Given the description of an element on the screen output the (x, y) to click on. 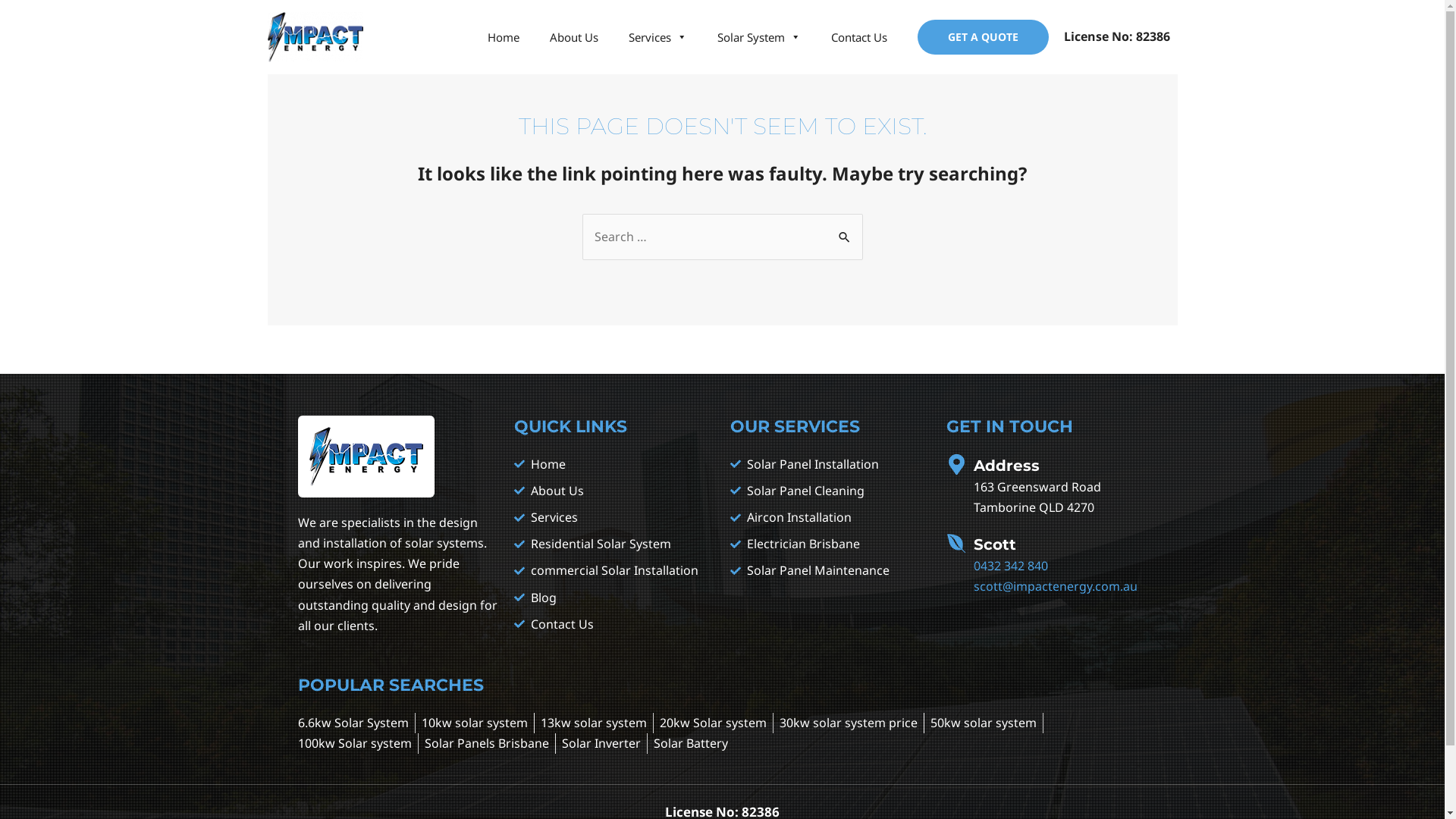
Services Element type: text (614, 517)
50kw solar system Element type: text (982, 722)
30kw solar system price Element type: text (848, 722)
Solar Panels Brisbane Element type: text (486, 743)
Residential Solar System Element type: text (614, 543)
Contact Us Element type: text (614, 624)
Blog Element type: text (614, 597)
Home Element type: text (614, 464)
Electrician Brisbane Element type: text (829, 543)
Services Element type: text (656, 37)
20kw Solar system Element type: text (712, 722)
scott@impactenergy.com.au Element type: text (1055, 585)
Aircon Installation Element type: text (829, 517)
About Us Element type: text (614, 490)
13kw solar system Element type: text (592, 722)
10kw solar system Element type: text (474, 722)
Search Element type: text (845, 228)
100kw Solar system Element type: text (354, 743)
Solar Panel Cleaning Element type: text (829, 490)
Solar Panel Maintenance Element type: text (829, 570)
Solar Panel Installation Element type: text (829, 464)
commercial Solar Installation Element type: text (614, 570)
Solar System Element type: text (758, 37)
0432 342 840 Element type: text (1010, 565)
Solar Inverter Element type: text (600, 743)
Solar Battery Element type: text (690, 743)
6.6kw Solar System Element type: text (352, 722)
About Us Element type: text (572, 37)
Contact Us Element type: text (858, 37)
Home Element type: text (502, 37)
GET A QUOTE Element type: text (982, 36)
